Given the description of an element on the screen output the (x, y) to click on. 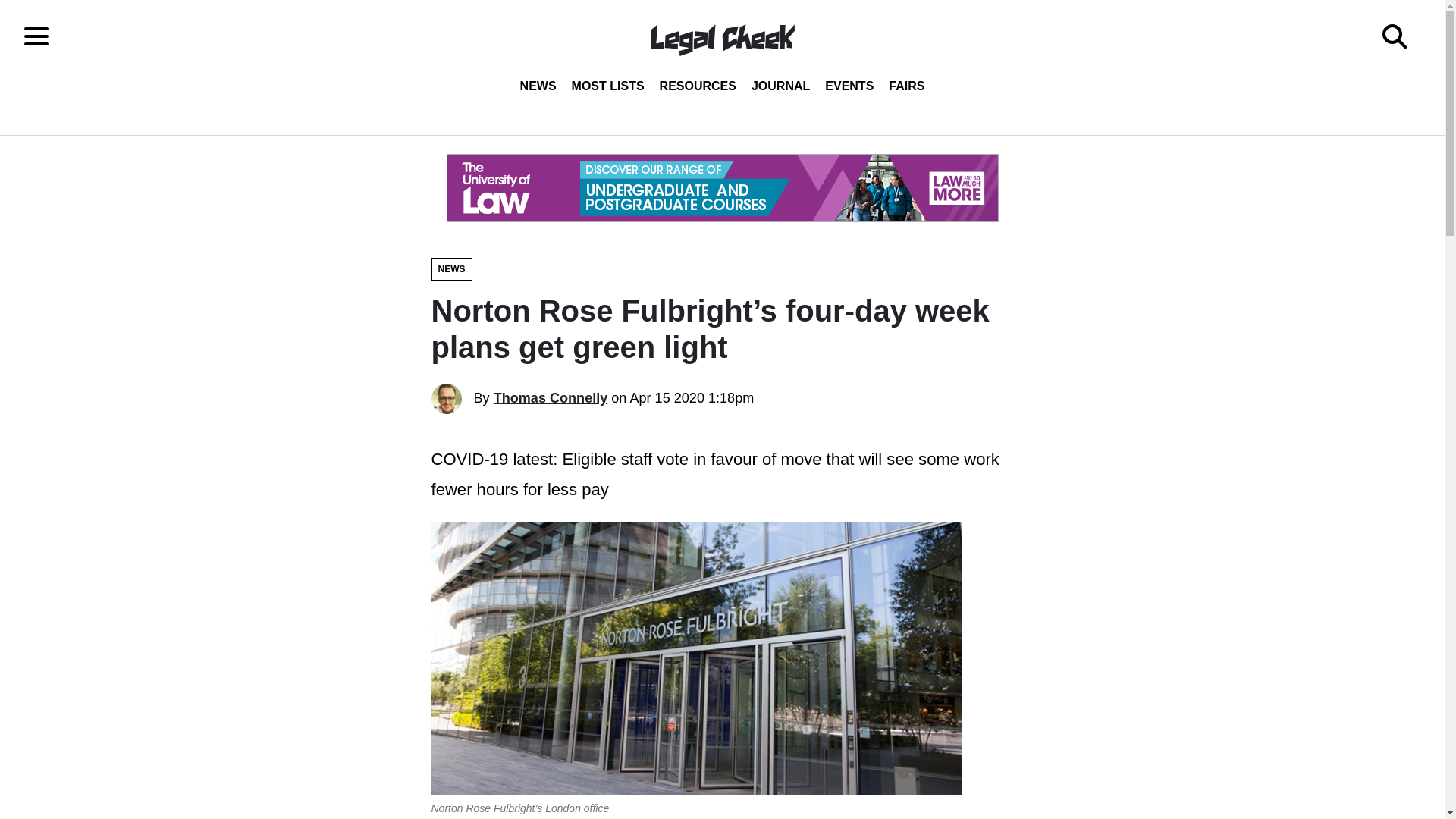
MOST LISTS (608, 86)
RESOURCES (698, 86)
Thomas Connelly (550, 397)
EVENTS (848, 86)
FAIRS (905, 86)
NEWS (538, 86)
NEWS (450, 268)
JOURNAL (780, 86)
advertisement (721, 187)
